Given the description of an element on the screen output the (x, y) to click on. 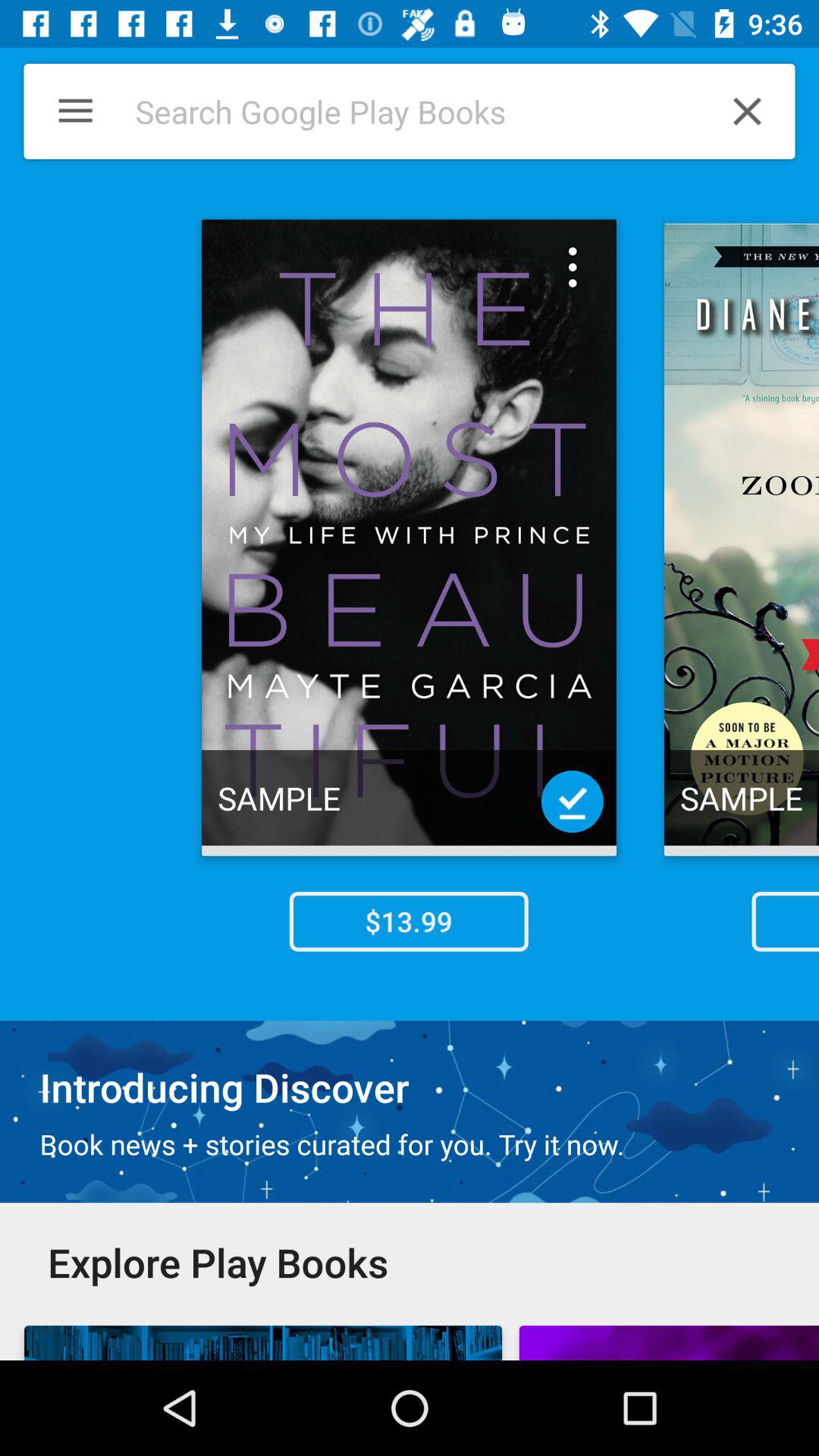
search bar (401, 111)
